Given the description of an element on the screen output the (x, y) to click on. 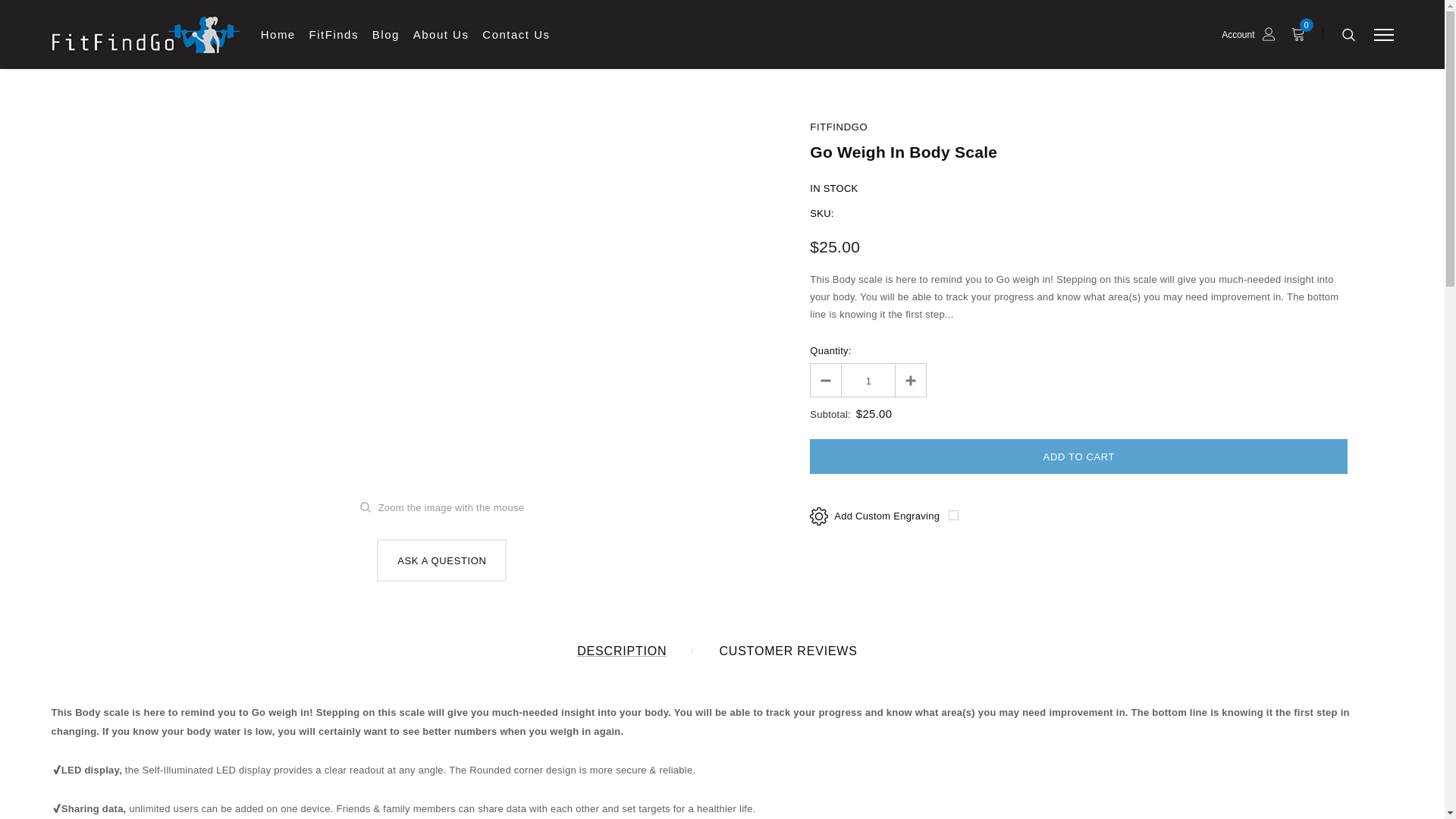
Add to Cart (1078, 455)
FitFindGo (838, 126)
Right Menu (1383, 33)
FitFinds (333, 43)
Account (1248, 34)
Home (277, 43)
About Us (440, 43)
0 (1301, 33)
Cart (1301, 33)
1 (868, 379)
Logo (145, 34)
Contact Us (515, 43)
